Given the description of an element on the screen output the (x, y) to click on. 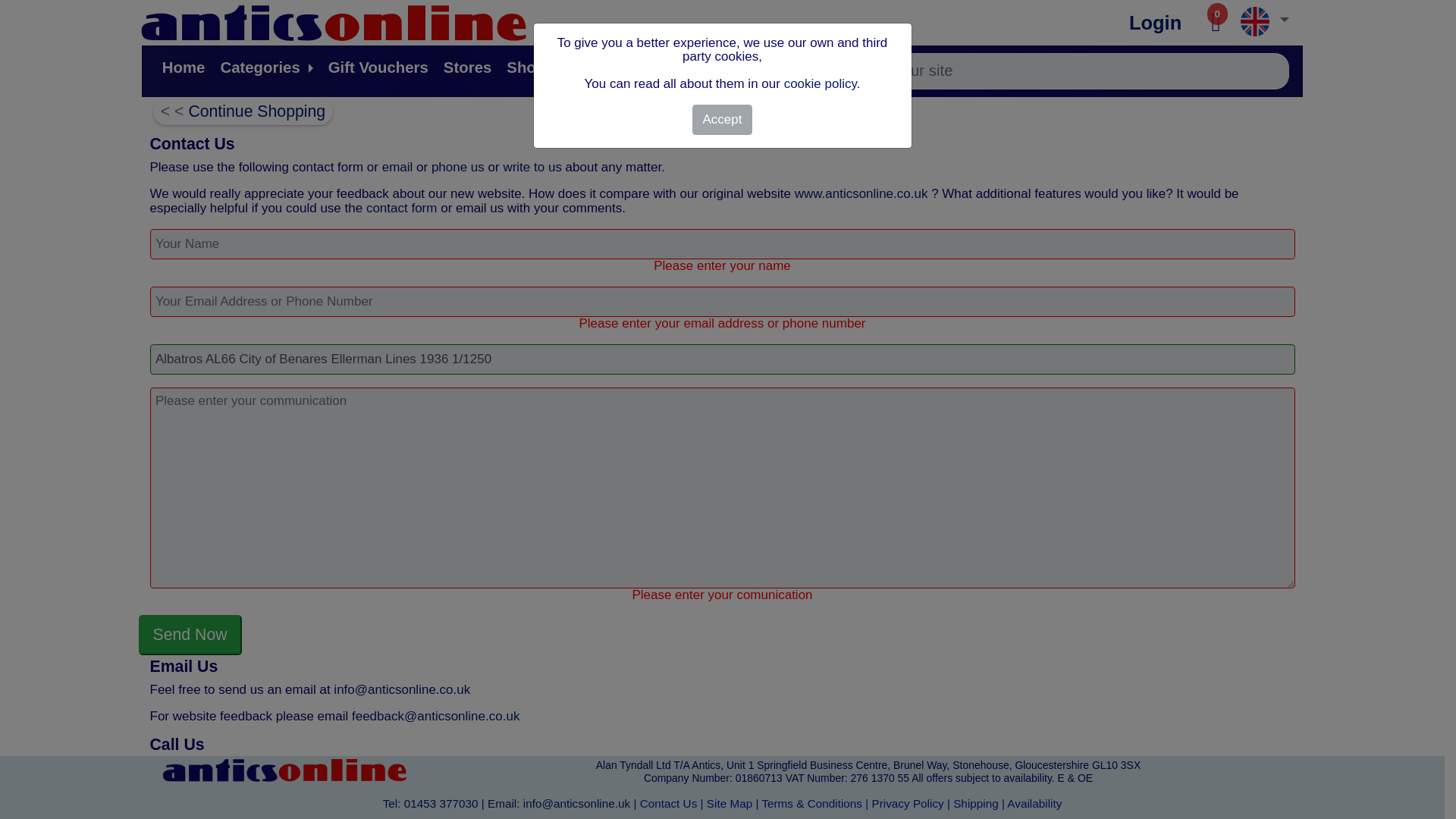
Gift Vouchers (378, 67)
Shows (531, 67)
Send Now (189, 635)
phone us (458, 166)
cookie policy. (822, 83)
email (398, 166)
Home (183, 67)
Categories (266, 67)
Stores (468, 67)
www.anticsonline.co.uk (862, 193)
Contact Us (668, 802)
Login (1154, 22)
Site Map (729, 802)
